Given the description of an element on the screen output the (x, y) to click on. 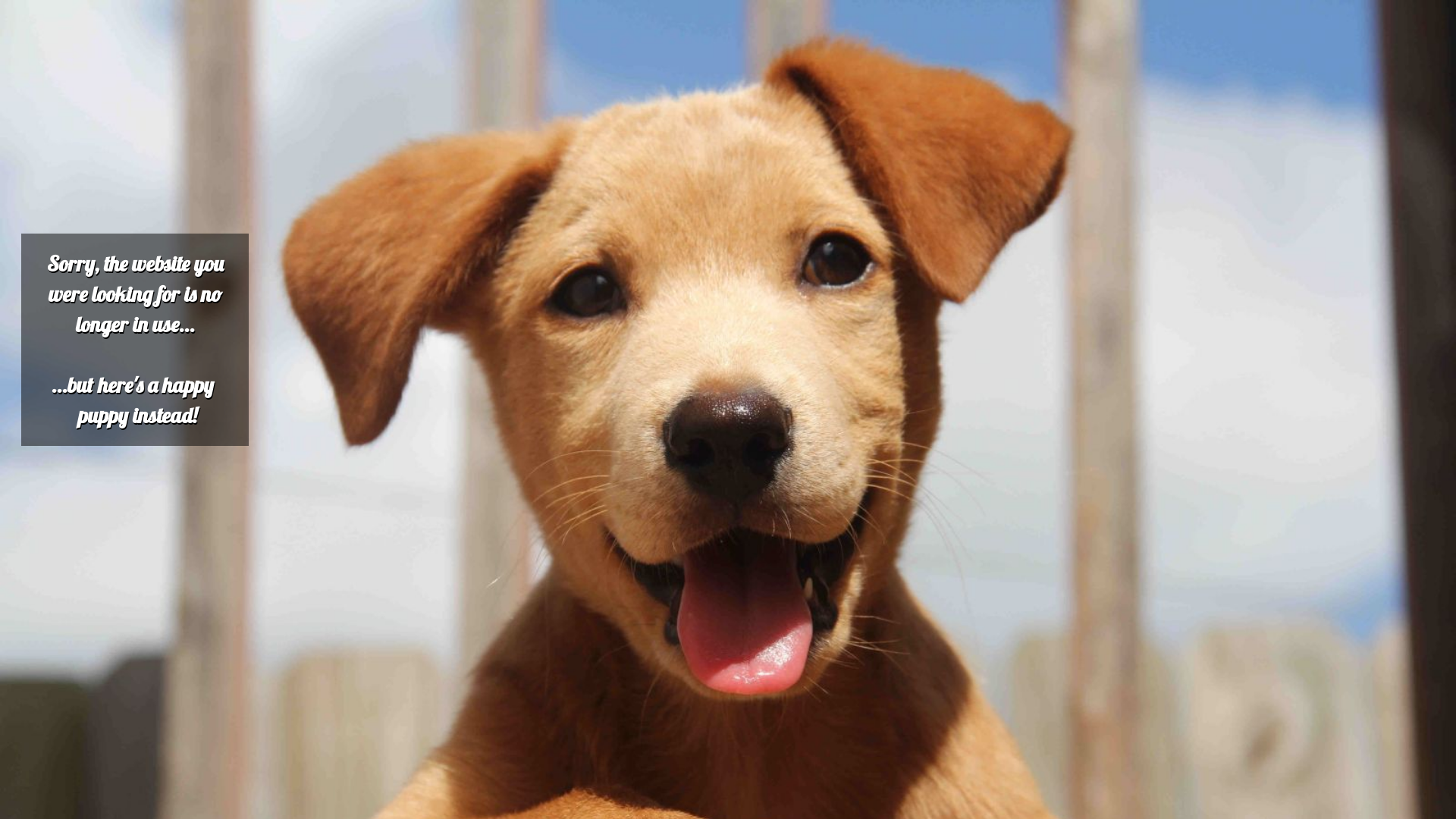
Advertisement Element type: hover (461, 112)
